Given the description of an element on the screen output the (x, y) to click on. 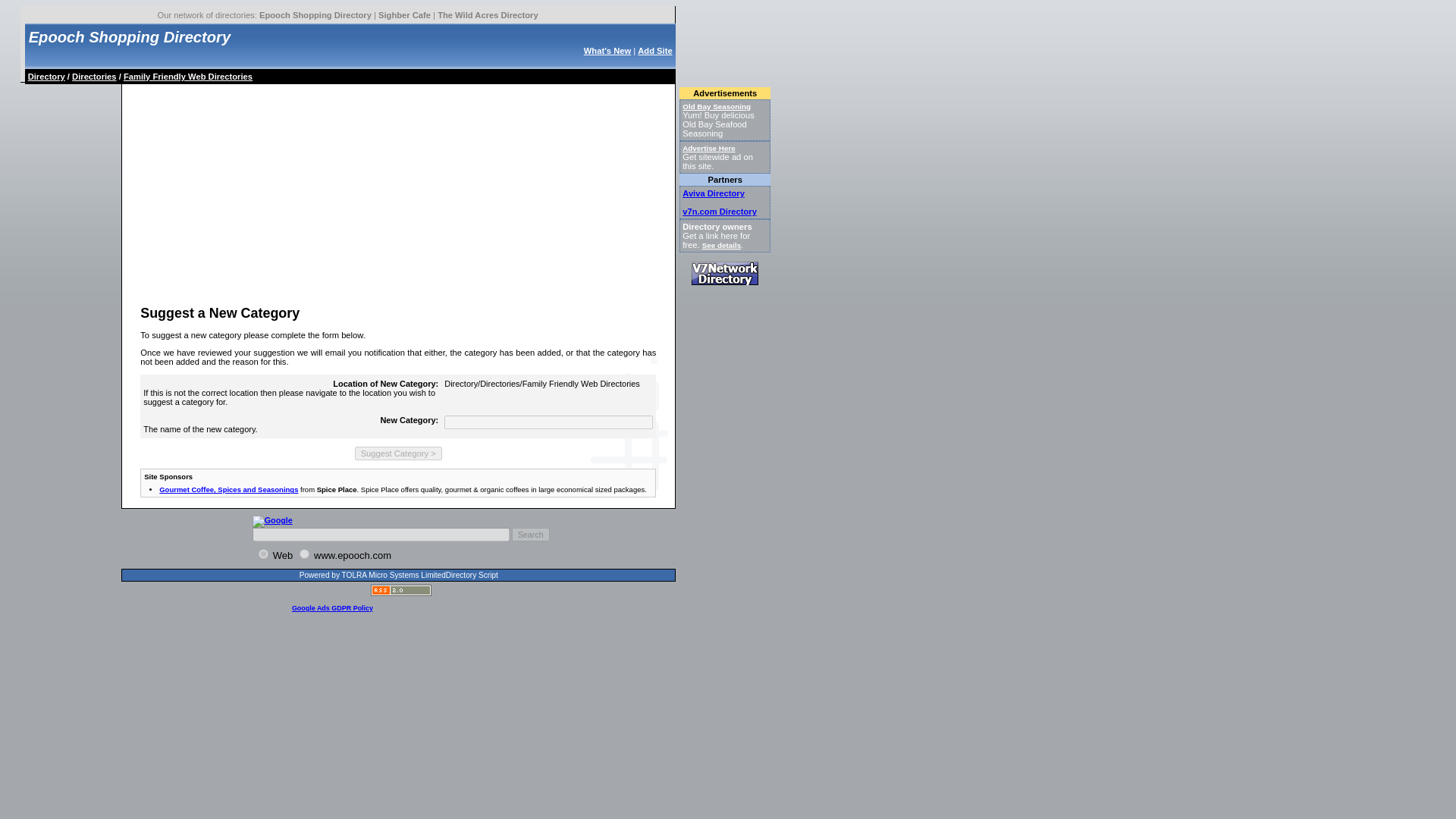
Sighber Cafe (404, 14)
Free SEO Friendly Directory (404, 14)
What's New (606, 50)
Paid Review - The Wild Acres Web Directory (488, 14)
Family Friendly Web Directories (187, 76)
Gourmet Coffee, Spices and Seasonings (228, 489)
See details (721, 244)
Free Shopping Directory (315, 14)
Old Bay Seasoning (716, 106)
Advertise Here (708, 148)
